Given the description of an element on the screen output the (x, y) to click on. 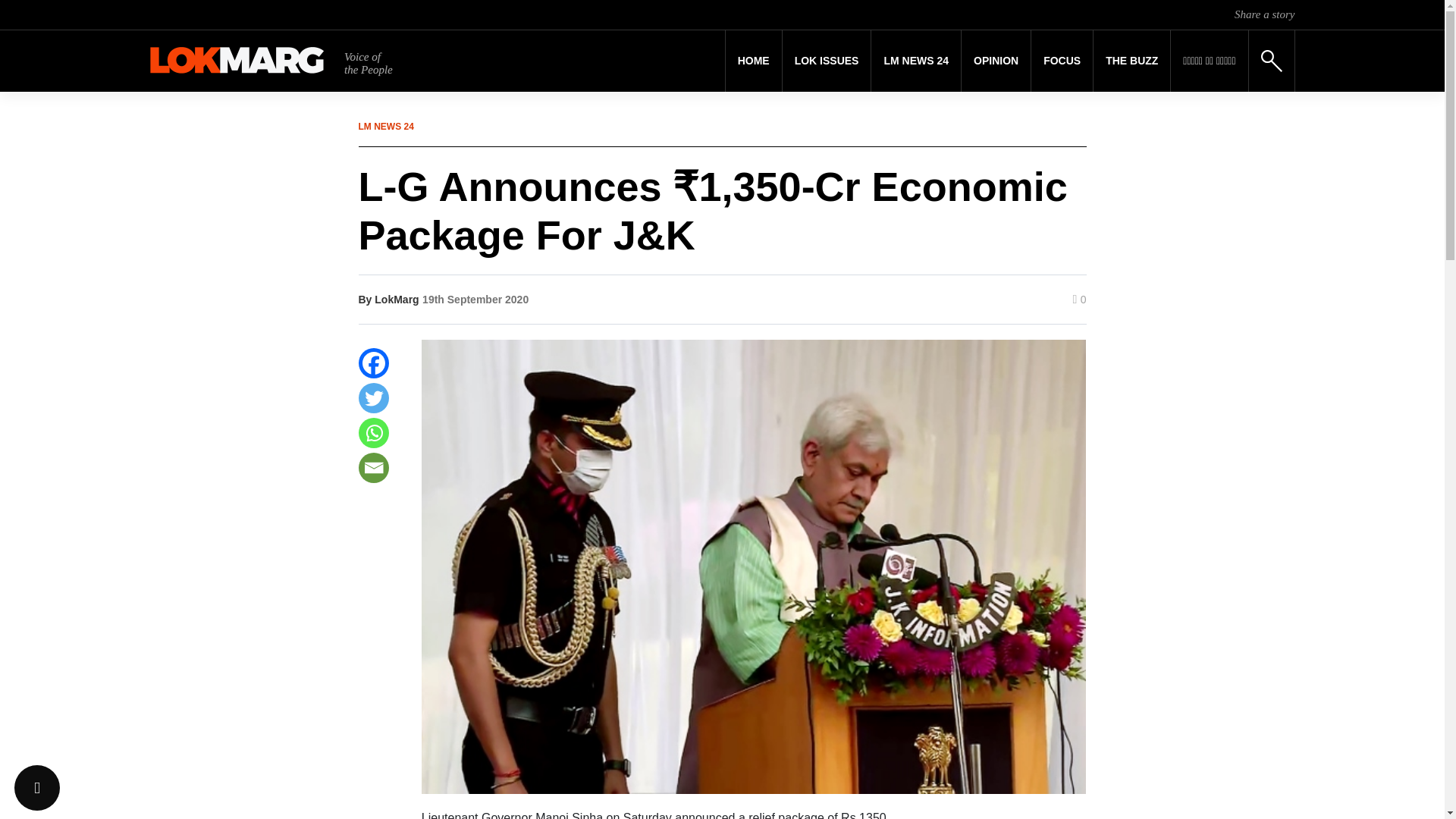
Opinion (995, 60)
Share a story (1264, 14)
Lok Issues (826, 60)
OPINION (995, 60)
LokMarg (396, 299)
Facebook (373, 363)
Focus (1061, 60)
LM News 24 (915, 60)
HOME (753, 60)
THE BUZZ (1131, 60)
